Given the description of an element on the screen output the (x, y) to click on. 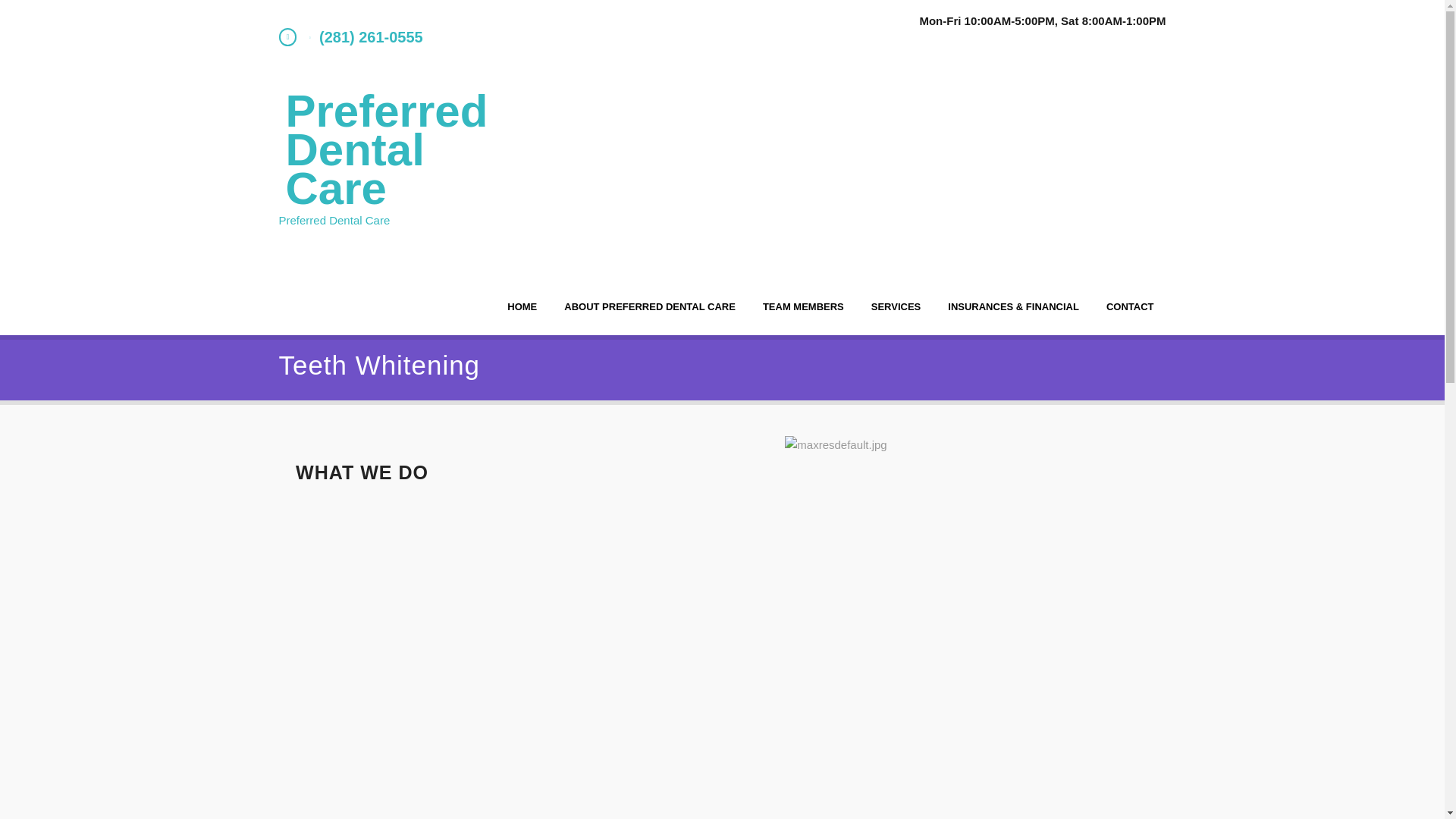
SERVICES (896, 306)
CONTACT (1130, 306)
HOME (521, 306)
ABOUT PREFERRED DENTAL CARE (649, 306)
TEAM MEMBERS (803, 306)
